Given the description of an element on the screen output the (x, y) to click on. 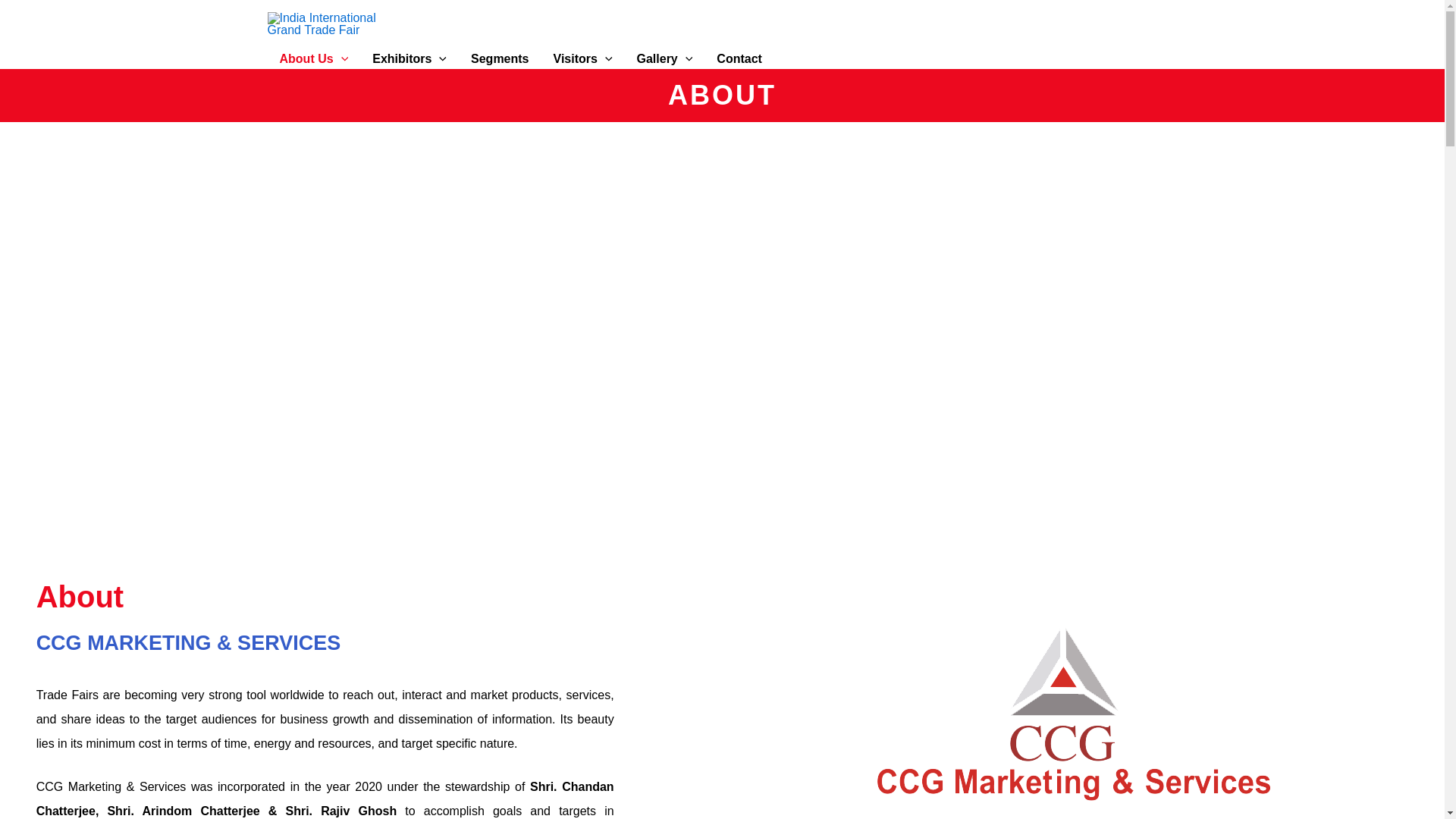
Contact (739, 58)
Segments (499, 58)
Visitors (582, 58)
About Us (312, 58)
Exhibitors (408, 58)
Gallery (664, 58)
